Given the description of an element on the screen output the (x, y) to click on. 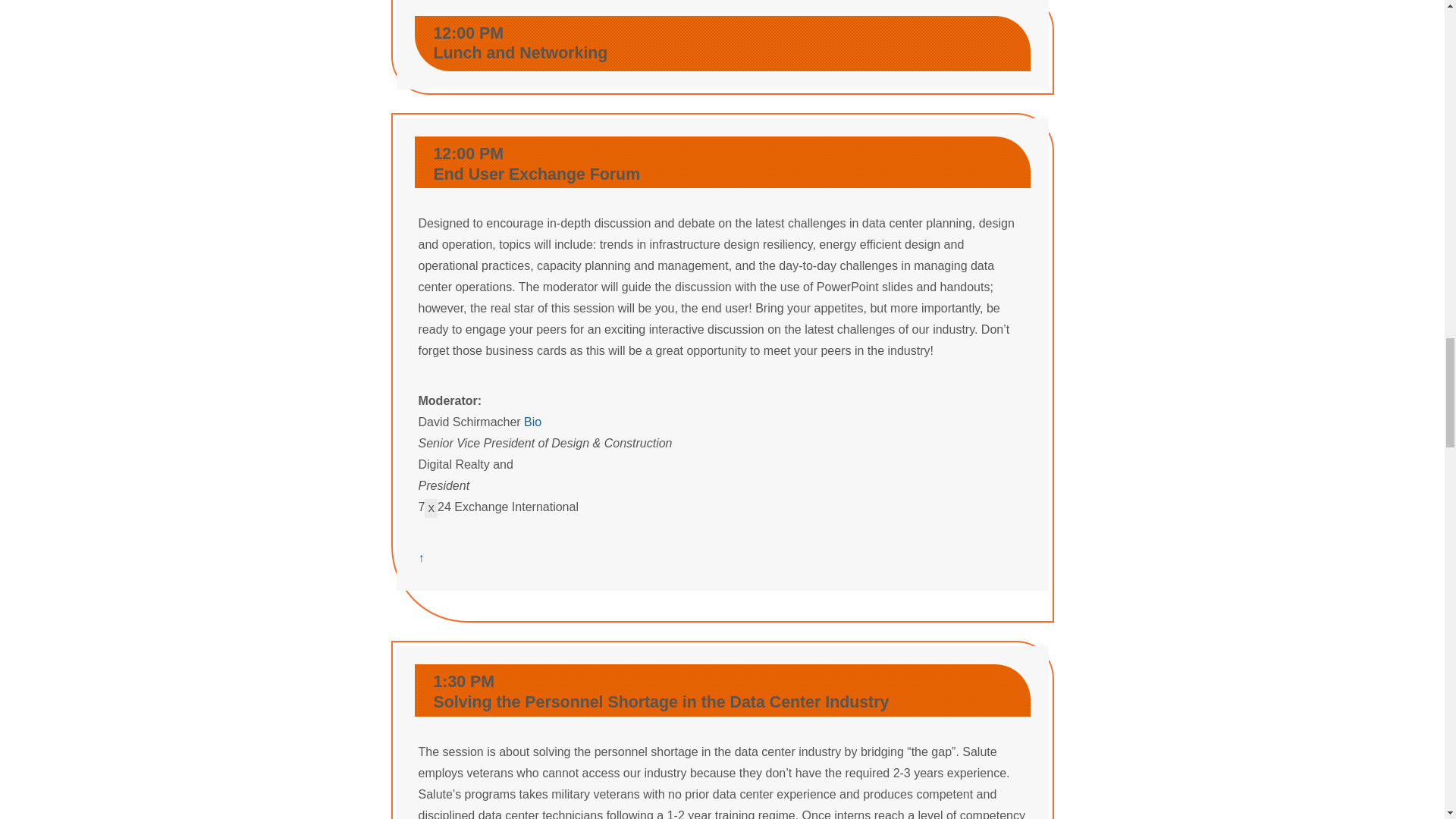
Bio (532, 421)
